Given the description of an element on the screen output the (x, y) to click on. 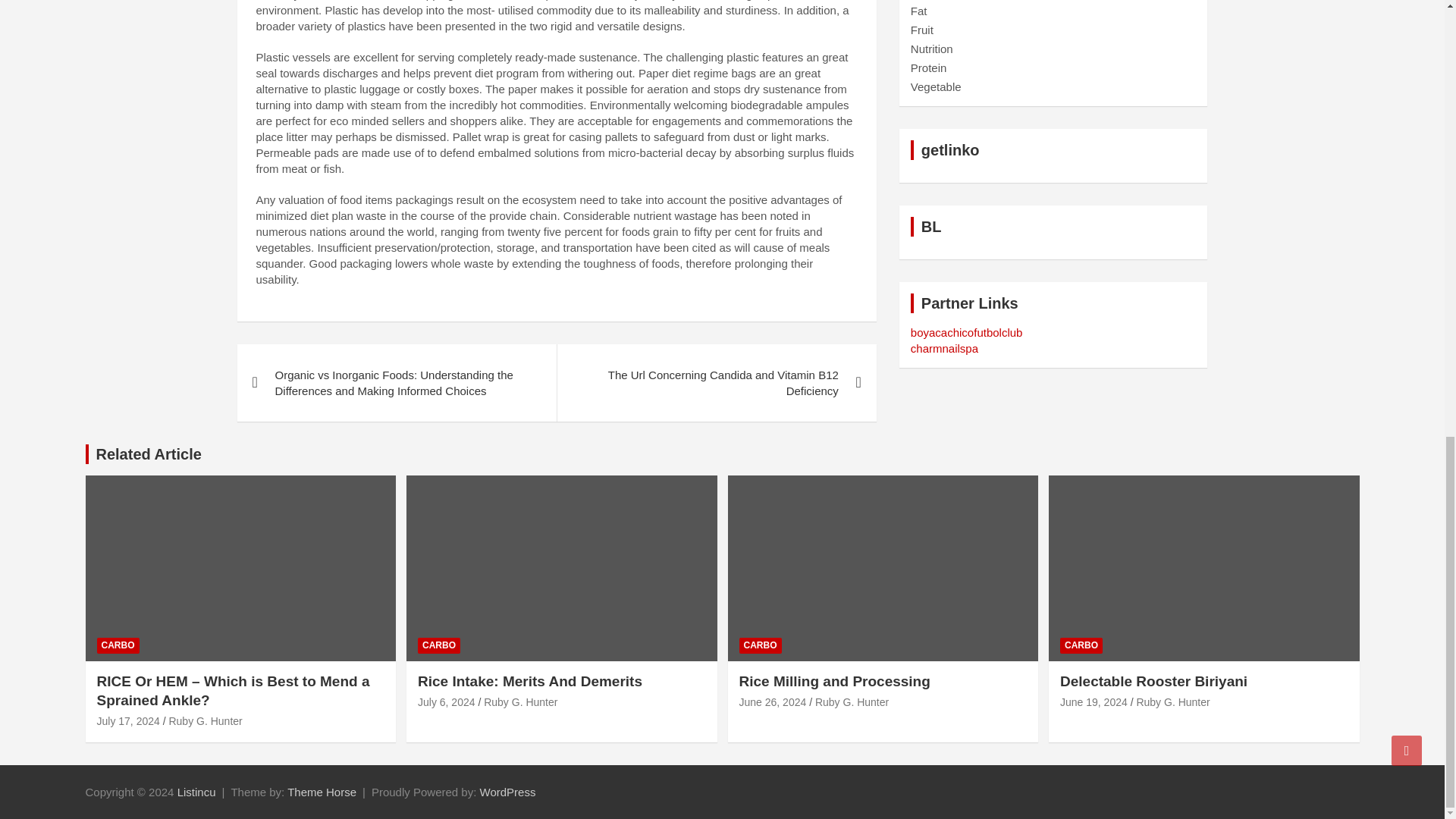
Protein (929, 67)
Related Article (148, 453)
Nutrition (932, 48)
Rice Intake: Merits And Demerits (446, 702)
Fat (919, 10)
charmnailspa (944, 348)
Fruit (922, 29)
Theme Horse (321, 791)
Vegetable (935, 86)
CARBO (118, 645)
